Given the description of an element on the screen output the (x, y) to click on. 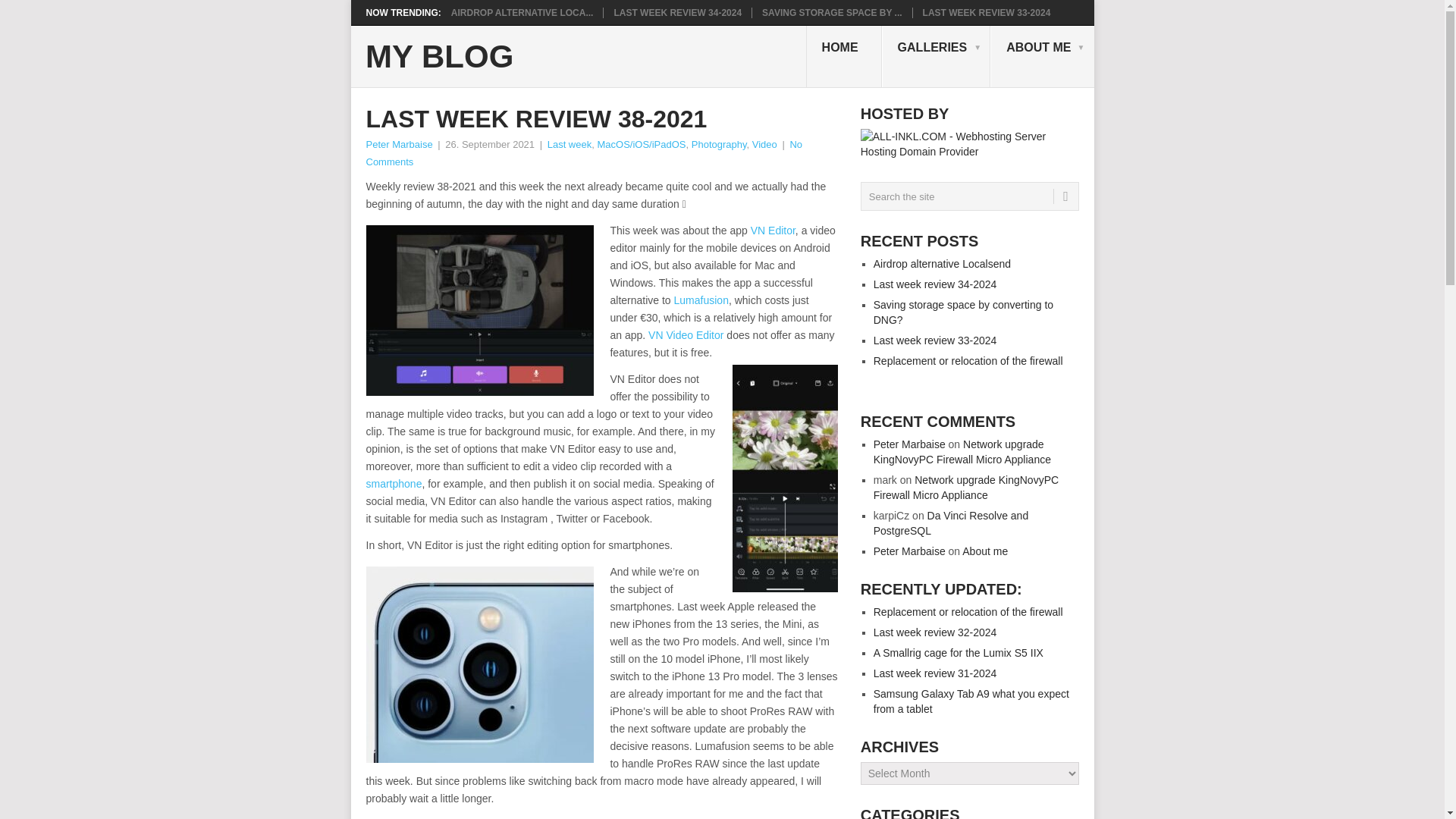
LAST WEEK REVIEW 33-2024 (987, 12)
smartphone (393, 483)
GALLERIES (936, 56)
Photography (718, 143)
No Comments (583, 152)
SAVING STORAGE SPACE BY ... (831, 12)
Saving storage space by converting to DNG? (831, 12)
Search the site (969, 195)
Peter Marbaise (398, 143)
AIRDROP ALTERNATIVE LOCA... (522, 12)
